Given the description of an element on the screen output the (x, y) to click on. 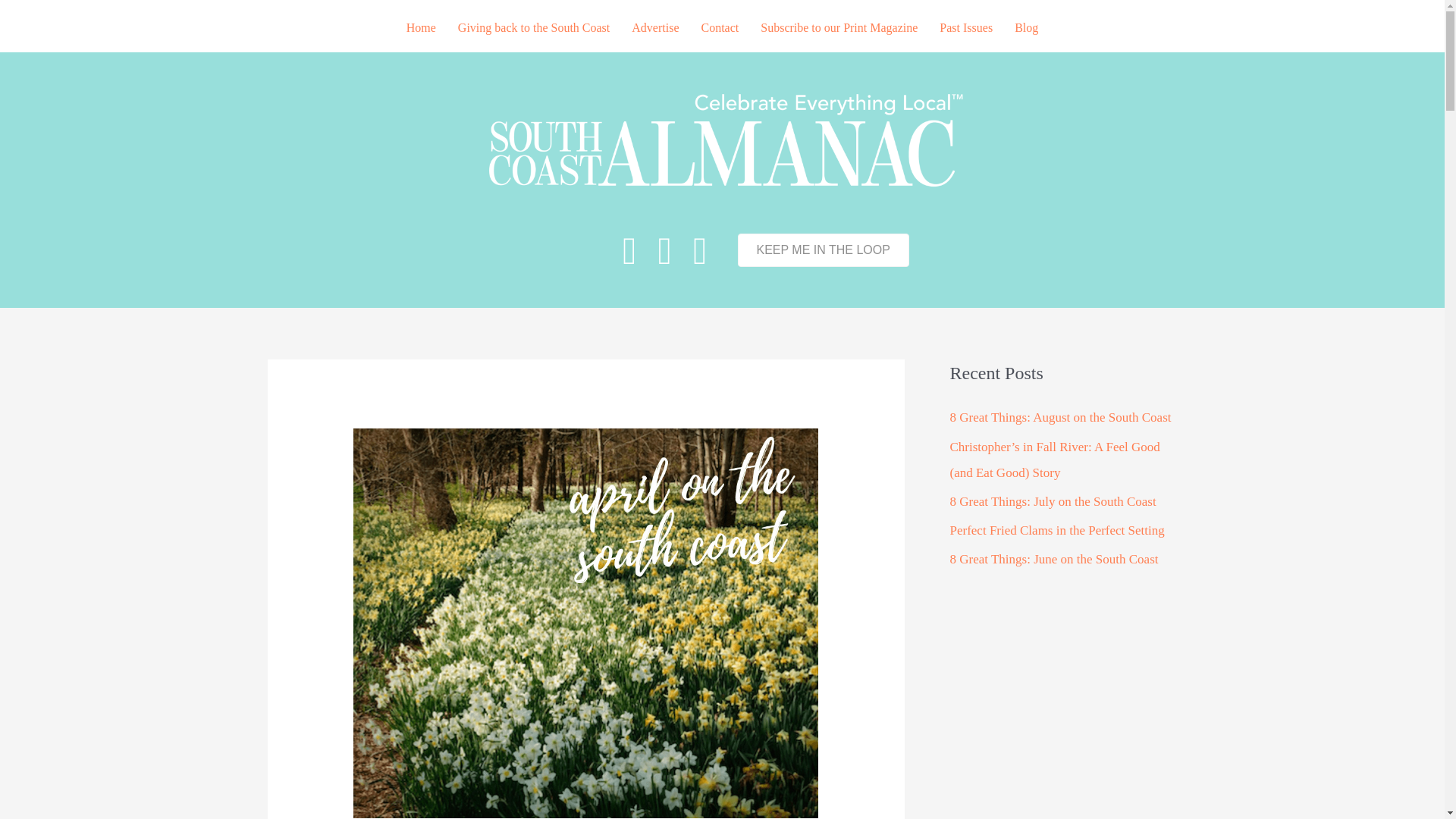
Subscribe to our Print Magazine (838, 28)
Home (421, 28)
Giving back to the South Coast (533, 28)
Past Issues (965, 28)
Advertise (654, 28)
KEEP ME IN THE LOOP (822, 249)
Contact (719, 28)
Blog (1026, 28)
